Given the description of an element on the screen output the (x, y) to click on. 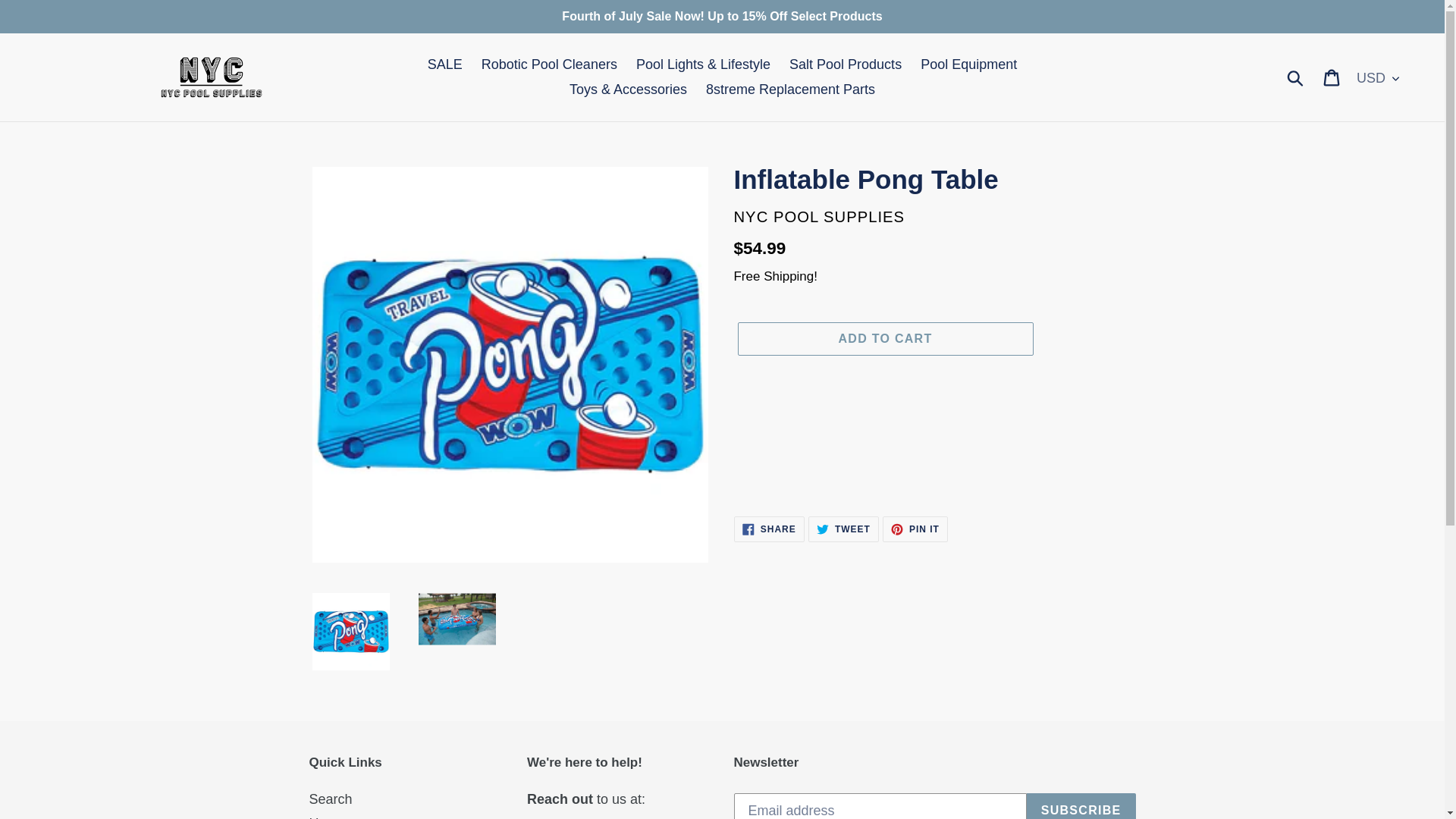
8streme Replacement Parts (790, 89)
SALE (445, 64)
ADD TO CART (769, 529)
Pool Equipment (884, 338)
Submit (914, 529)
Robotic Pool Cleaners (968, 64)
Salt Pool Products (843, 529)
Cart (1296, 77)
